Given the description of an element on the screen output the (x, y) to click on. 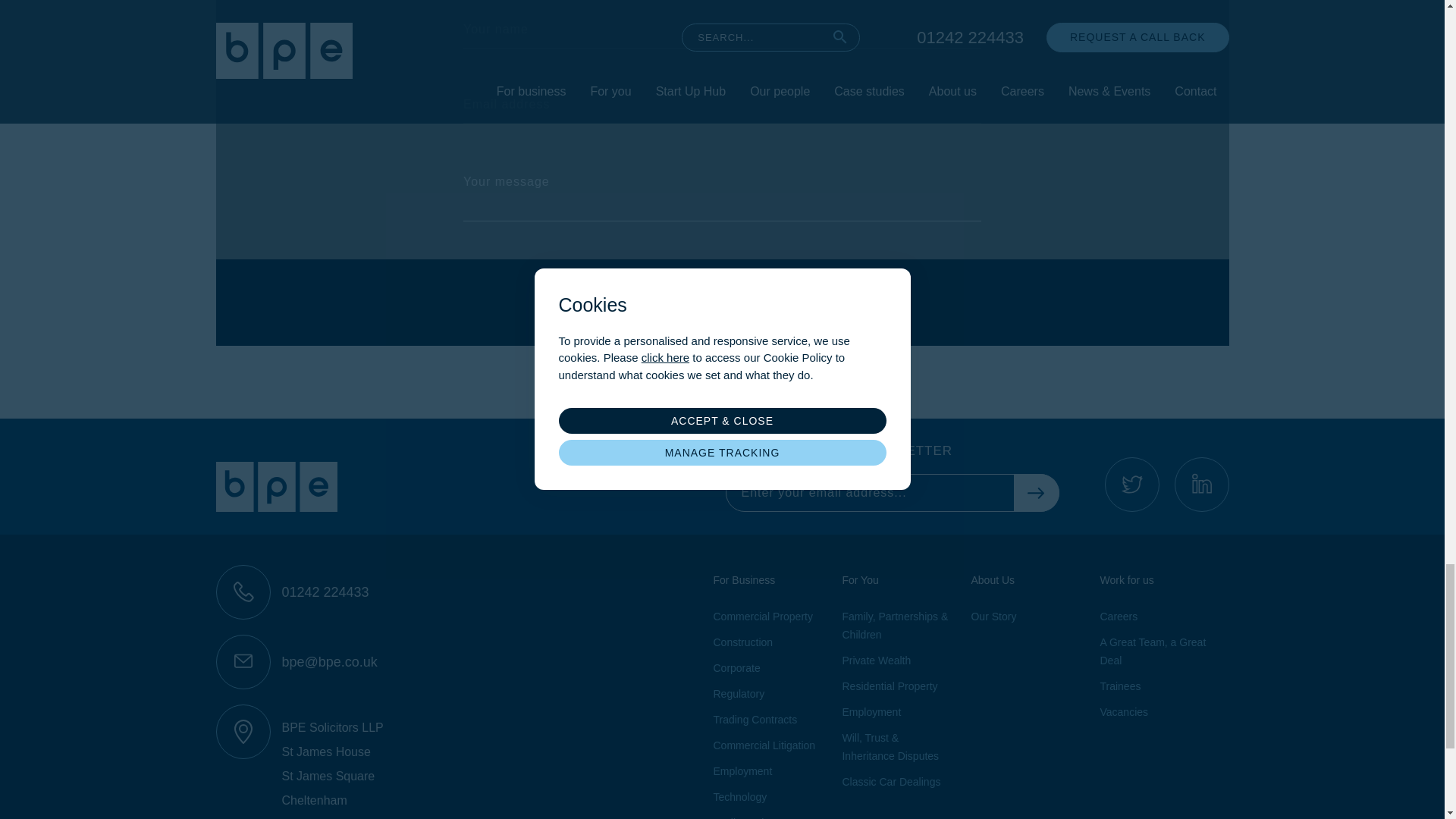
Submit (721, 302)
